Given the description of an element on the screen output the (x, y) to click on. 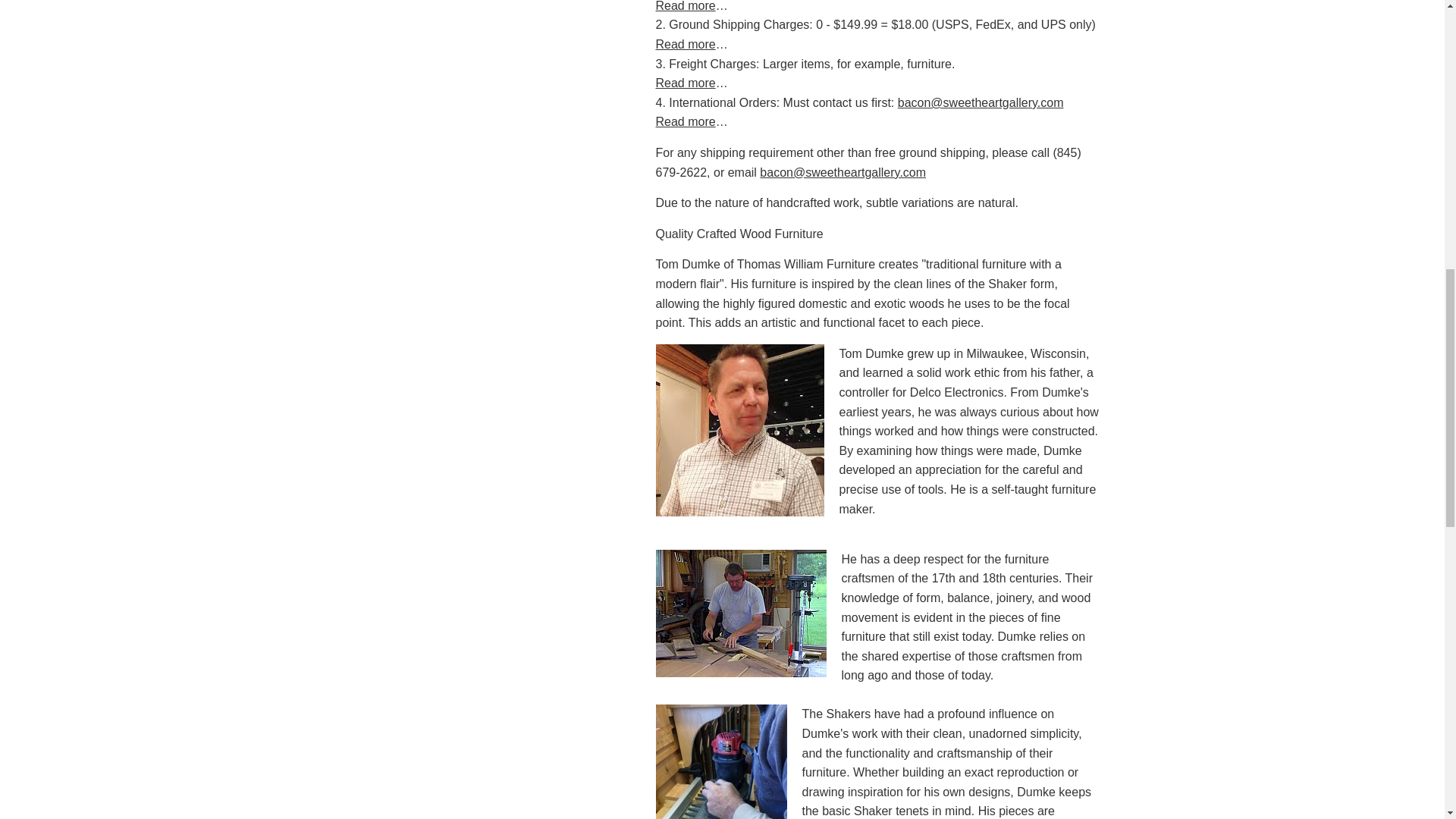
Read more (684, 121)
Read more (684, 6)
Shipping Policy (684, 43)
Read more (684, 82)
Shipping Policy (684, 121)
Read more (684, 43)
Shipping Policy (684, 82)
Shipping Policy (684, 6)
